Given the description of an element on the screen output the (x, y) to click on. 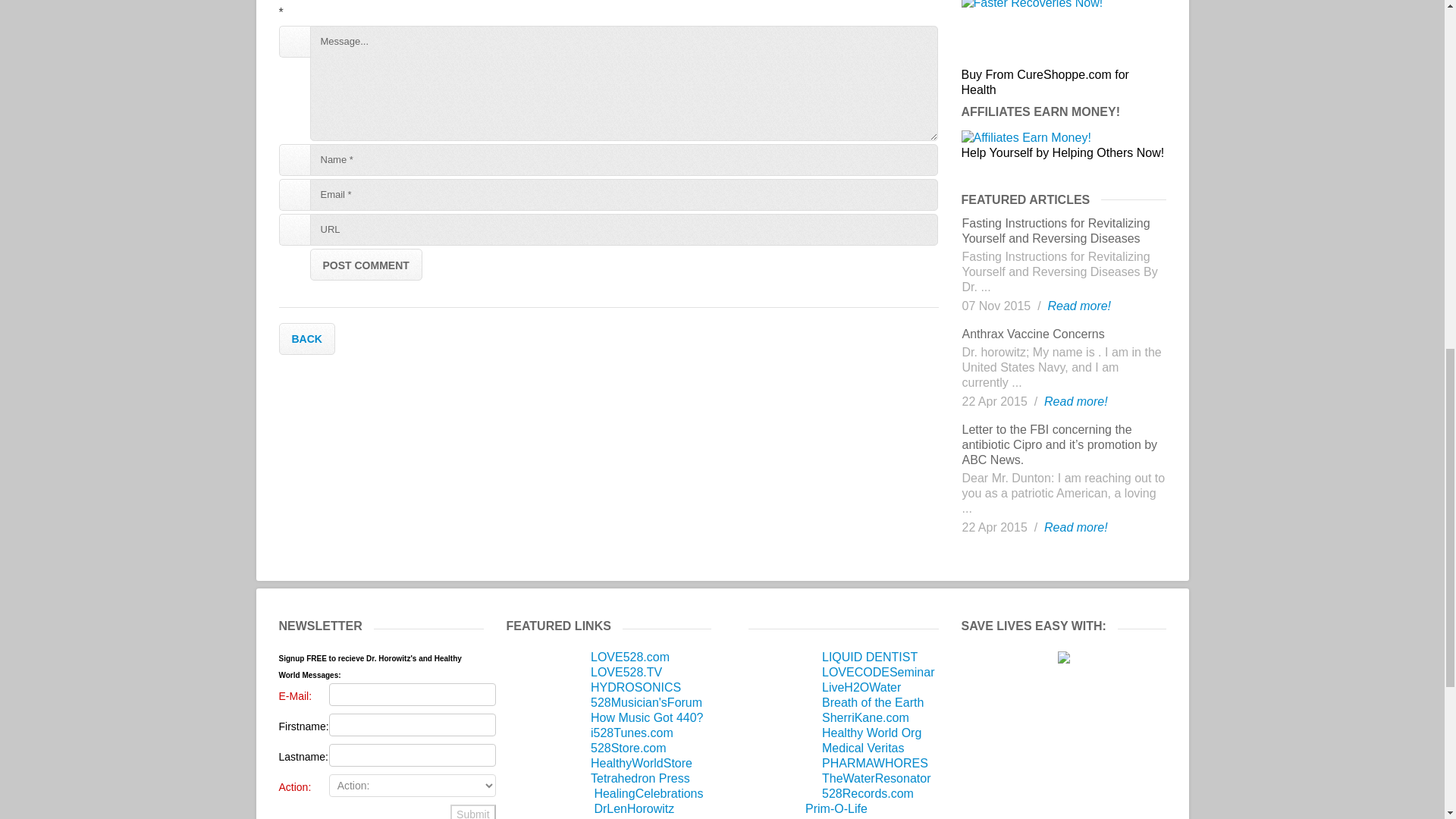
URL (622, 229)
Post Comment (365, 264)
Post Comment (365, 264)
Message... (622, 82)
URL (622, 229)
Submit (472, 811)
BACK (306, 338)
